Given the description of an element on the screen output the (x, y) to click on. 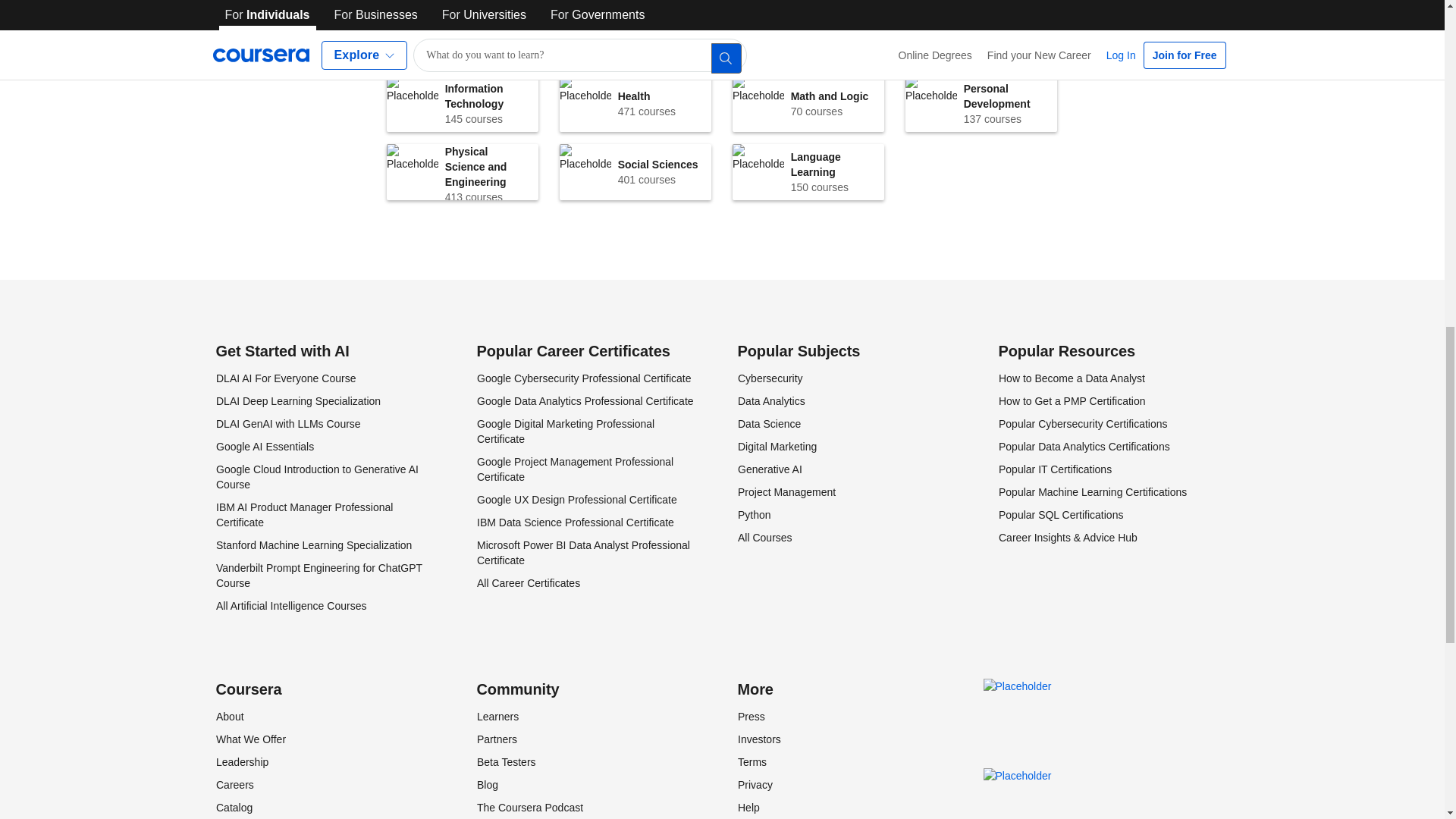
Google AI Essentials (635, 35)
Stanford Machine Learning Specialization (462, 171)
IBM AI Product Manager Professional Certificate (264, 446)
DLAI GenAI with LLMs Course (312, 544)
All Artificial Intelligence Courses (303, 514)
DLAI AI For Everyone Course (462, 35)
Vanderbilt Prompt Engineering for ChatGPT Course (287, 423)
DLAI Deep Learning Specialization (981, 103)
Google Cybersecurity Professional Certificate (290, 605)
